Given the description of an element on the screen output the (x, y) to click on. 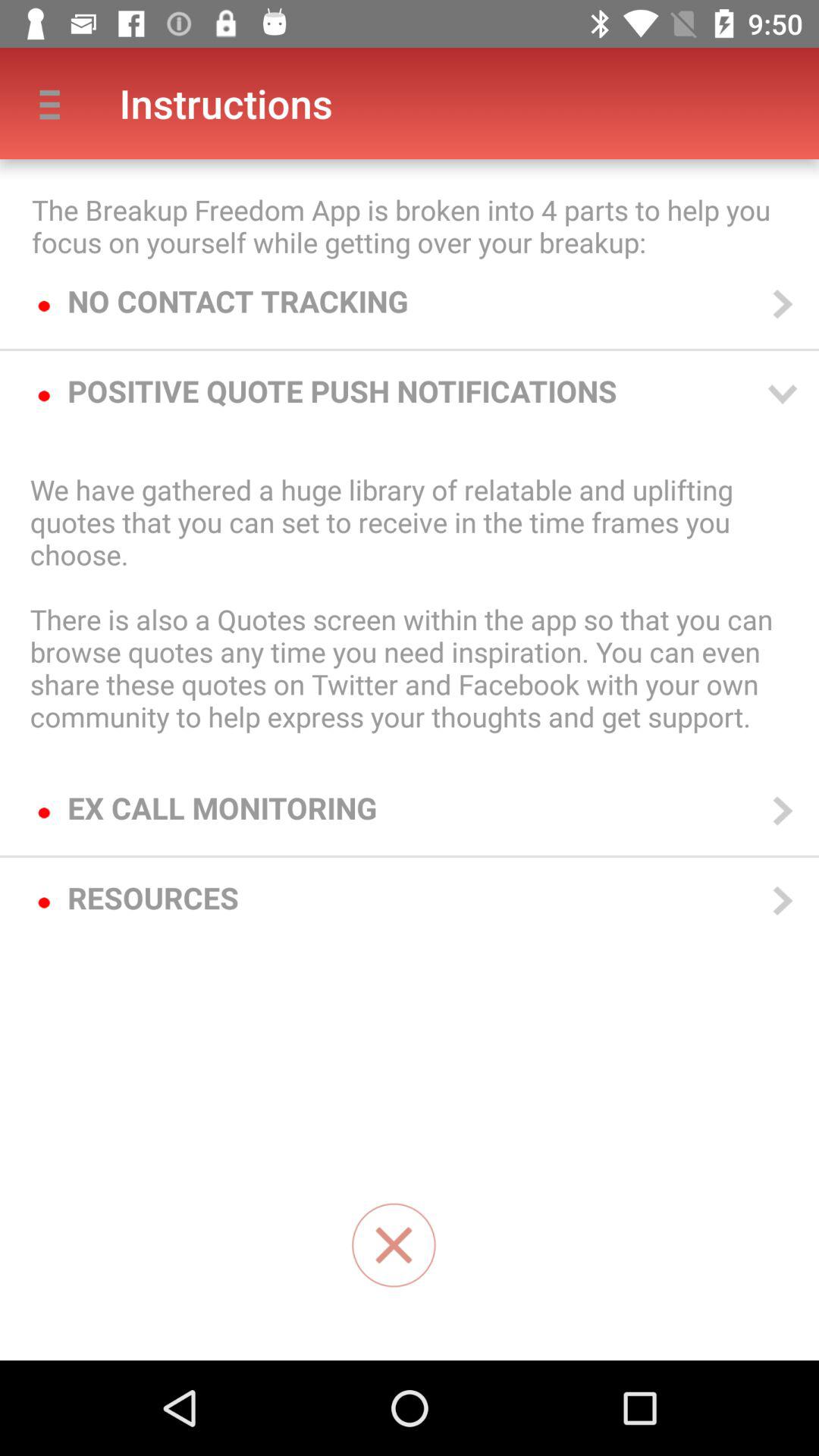
close button (393, 1245)
